Given the description of an element on the screen output the (x, y) to click on. 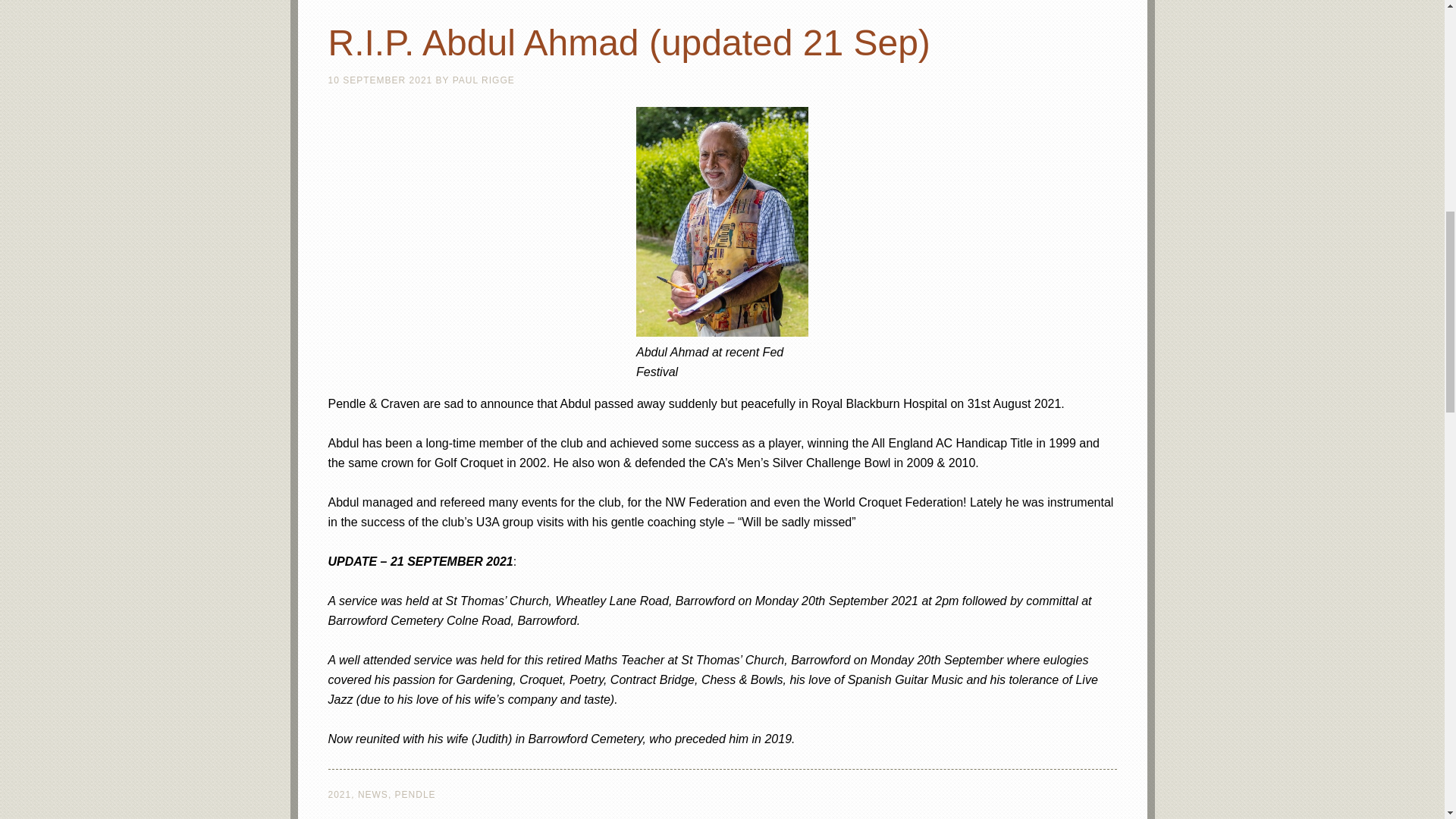
2021 (338, 794)
PENDLE (414, 794)
NEWS (373, 794)
PAUL RIGGE (483, 80)
